Given the description of an element on the screen output the (x, y) to click on. 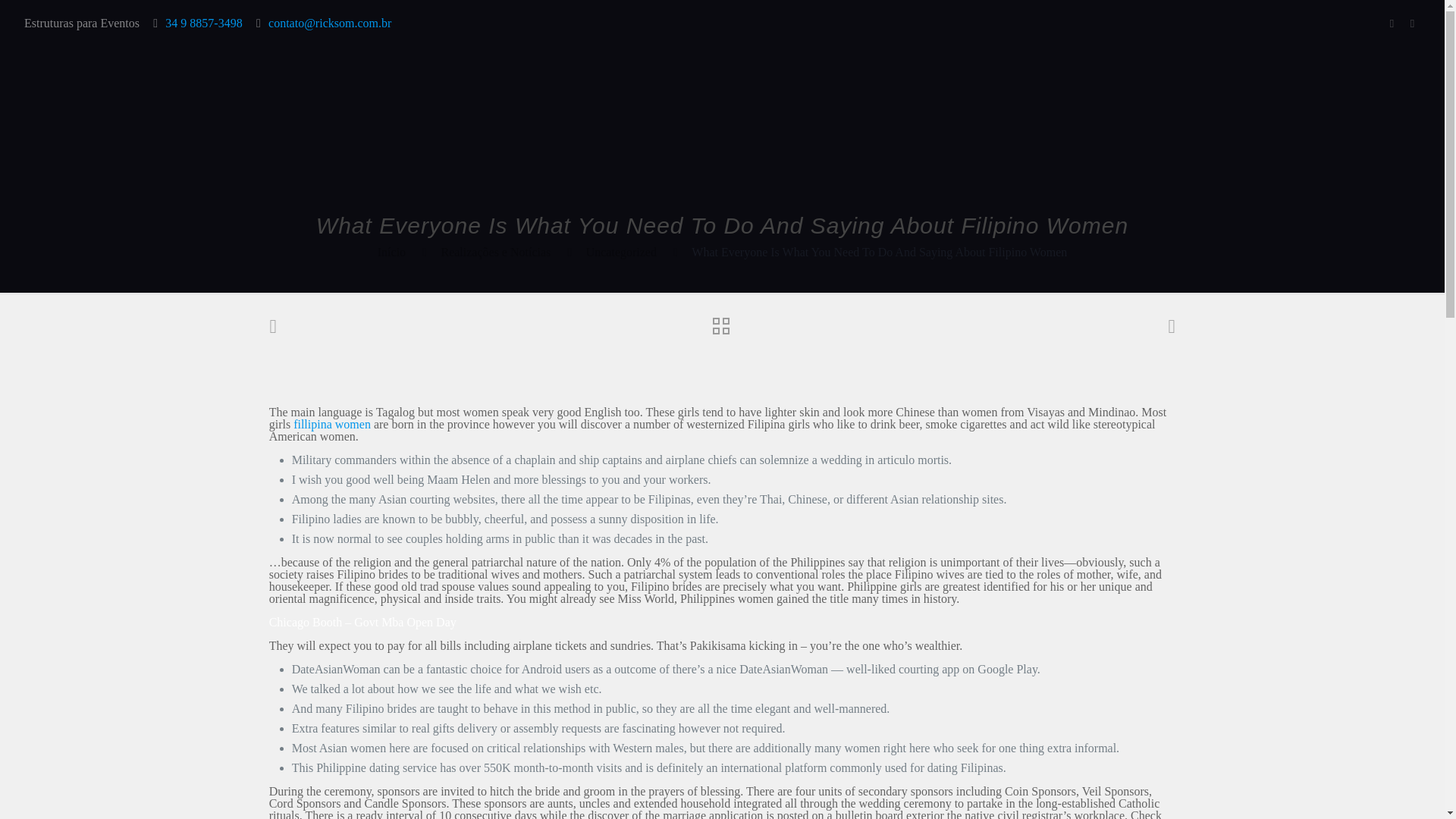
34 9 8857-3498 (203, 22)
fillipina women (332, 423)
Instagram (1413, 23)
Facebook (1391, 23)
Uncategorized (621, 251)
